Given the description of an element on the screen output the (x, y) to click on. 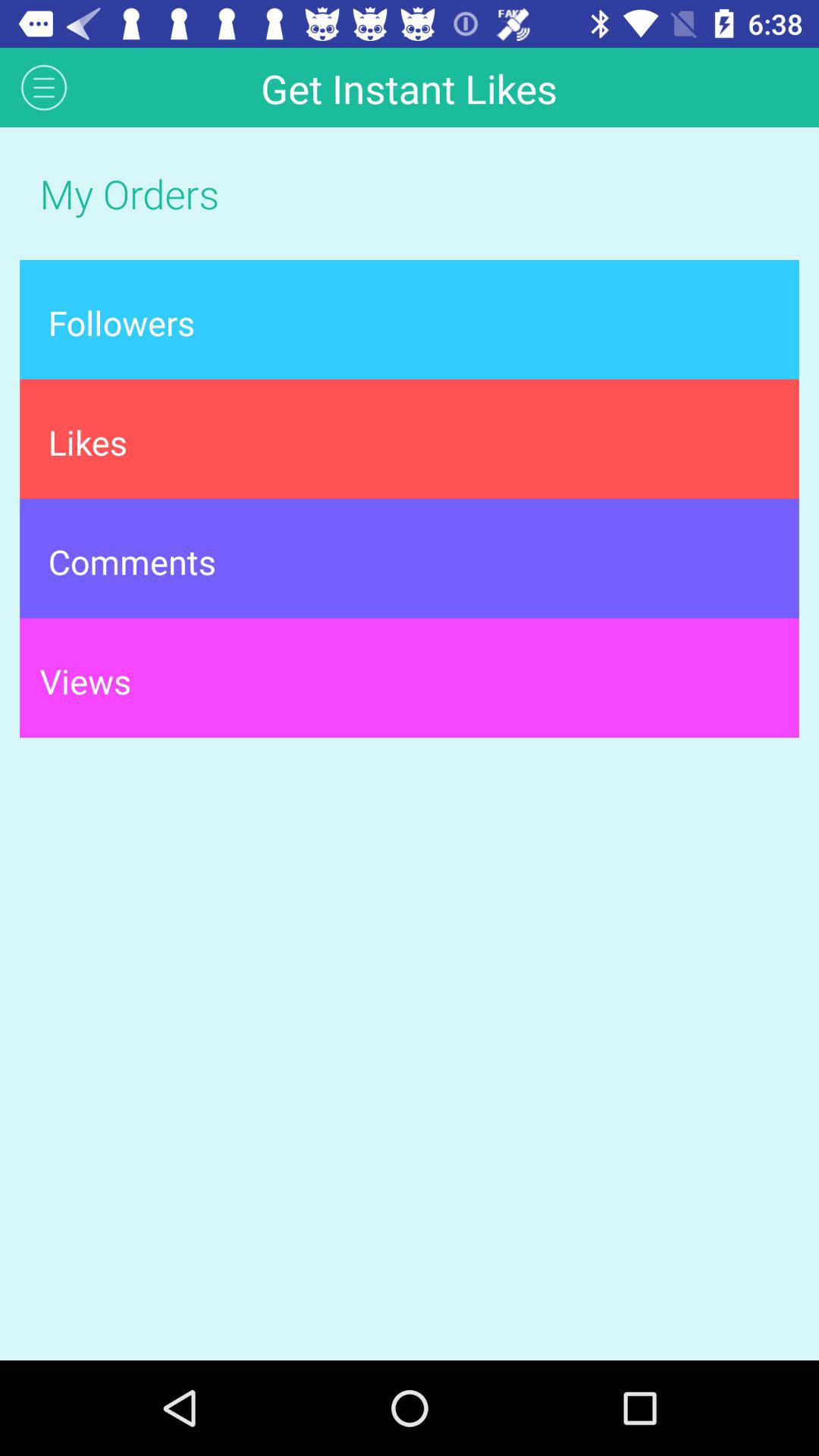
turn off the  comments icon (409, 558)
